Given the description of an element on the screen output the (x, y) to click on. 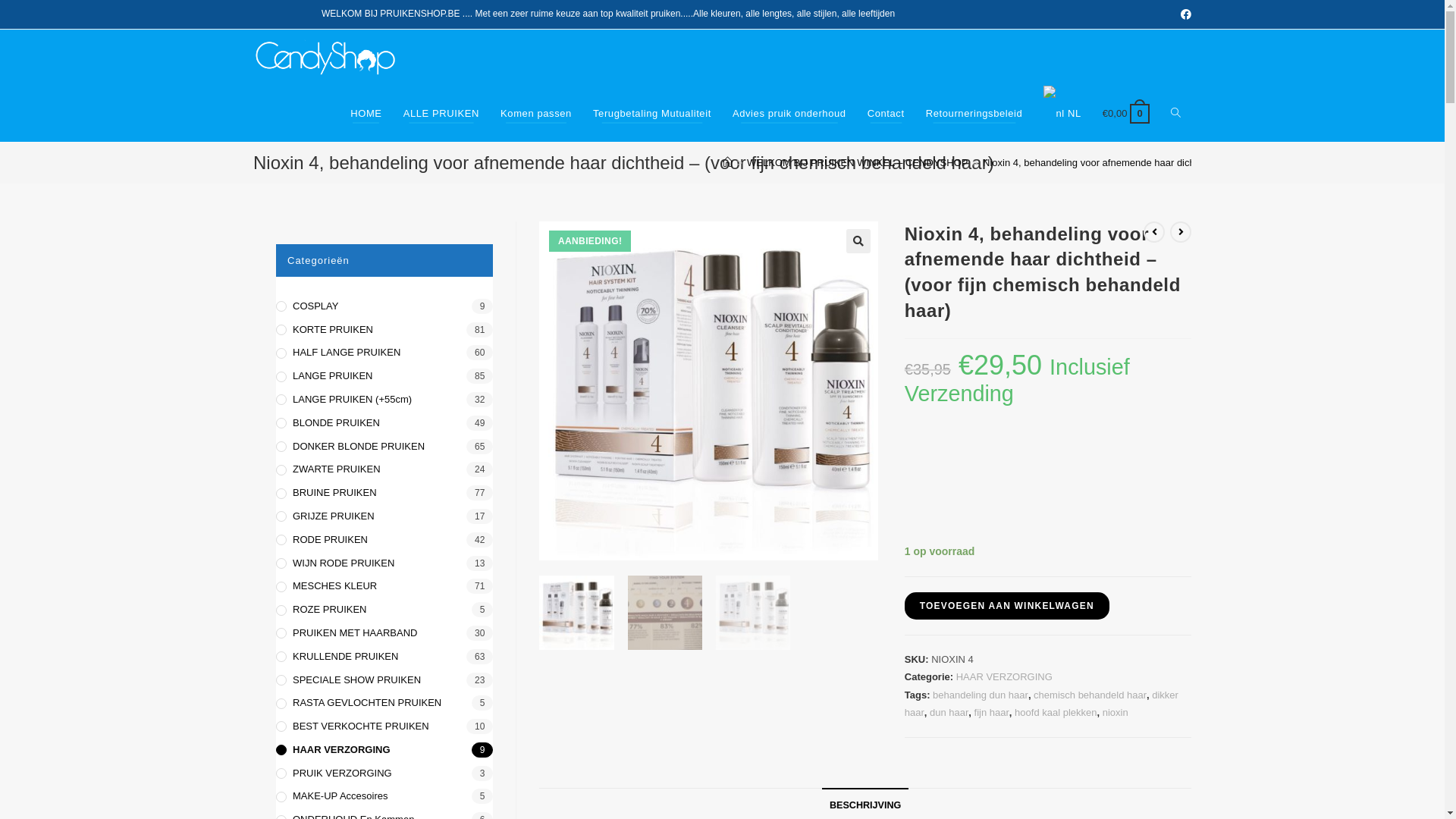
behandeling dun haar Element type: text (980, 694)
HAAR VERZORGING Element type: text (1004, 676)
DONKER BLONDE PRUIKEN Element type: text (384, 447)
SPECIALE SHOW PRUIKEN Element type: text (384, 679)
Retourneringsbeleid Element type: text (974, 113)
LANGE PRUIKEN (+55cm) Element type: text (384, 399)
Komen passen Element type: text (535, 113)
HALF LANGE PRUIKEN Element type: text (384, 352)
HOME Element type: text (365, 113)
1403 Element type: text (1059, 38)
ROZE PRUIKEN Element type: text (384, 610)
BRUINE PRUIKEN Element type: text (384, 493)
hoofd kaal plekken Element type: text (1055, 712)
BLONDE PRUIKEN Element type: text (384, 423)
dikker haar Element type: text (1041, 703)
nioxin-system-4-kit Element type: hover (708, 390)
GRIJZE PRUIKEN Element type: text (384, 516)
HAAR VERZORGING Element type: text (384, 750)
MAKE-UP Accesoires Element type: text (384, 796)
chemisch behandeld haar Element type: text (1089, 694)
KRULLENDE PRUIKEN Element type: text (384, 657)
ZWARTE PRUIKEN Element type: text (384, 469)
BEST VERKOCHTE PRUIKEN Element type: text (384, 726)
RODE PRUIKEN Element type: text (384, 540)
TOEVOEGEN AAN WINKELWAGEN Element type: text (1006, 605)
ALLE PRUIKEN Element type: text (440, 113)
MESCHES KLEUR Element type: text (384, 586)
WIJN RODE PRUIKEN Element type: text (384, 563)
Contact Element type: text (885, 113)
Terugbetaling Mutualiteit Element type: text (651, 113)
Advies pruik onderhoud Element type: text (788, 113)
PRUIK VERZORGING Element type: text (384, 773)
RASTA GEVLOCHTEN PRUIKEN Element type: text (384, 703)
COSPLAY Element type: text (384, 306)
NL Element type: text (1061, 113)
fijn haar Element type: text (991, 712)
PRUIKEN MET HAARBAND Element type: text (384, 633)
LANGE PRUIKEN Element type: text (384, 376)
nioxin Element type: text (1115, 712)
KORTE PRUIKEN Element type: text (384, 330)
dun haar Element type: text (948, 712)
